Given the description of an element on the screen output the (x, y) to click on. 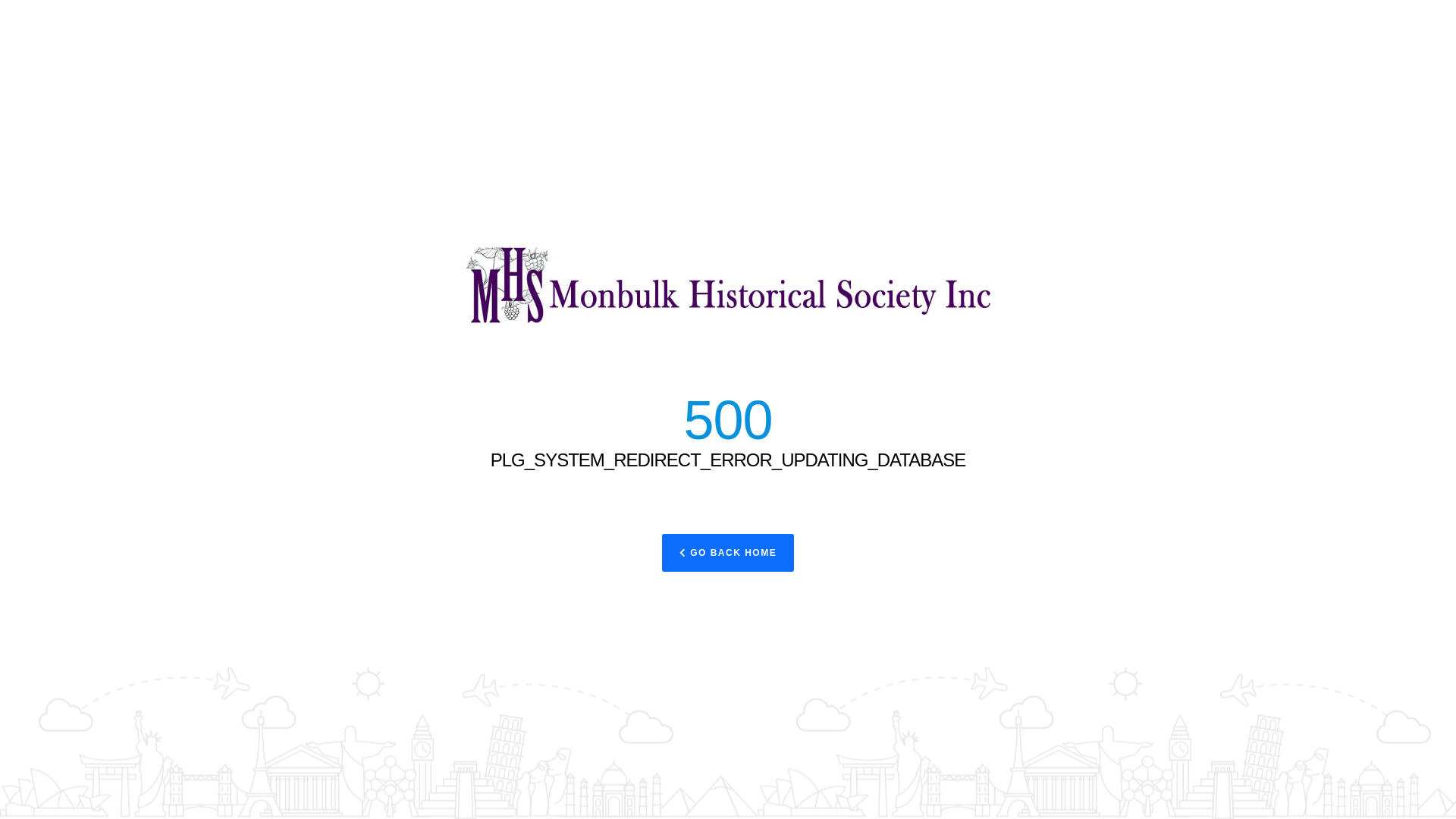
GO BACK HOME Element type: text (727, 552)
